Given the description of an element on the screen output the (x, y) to click on. 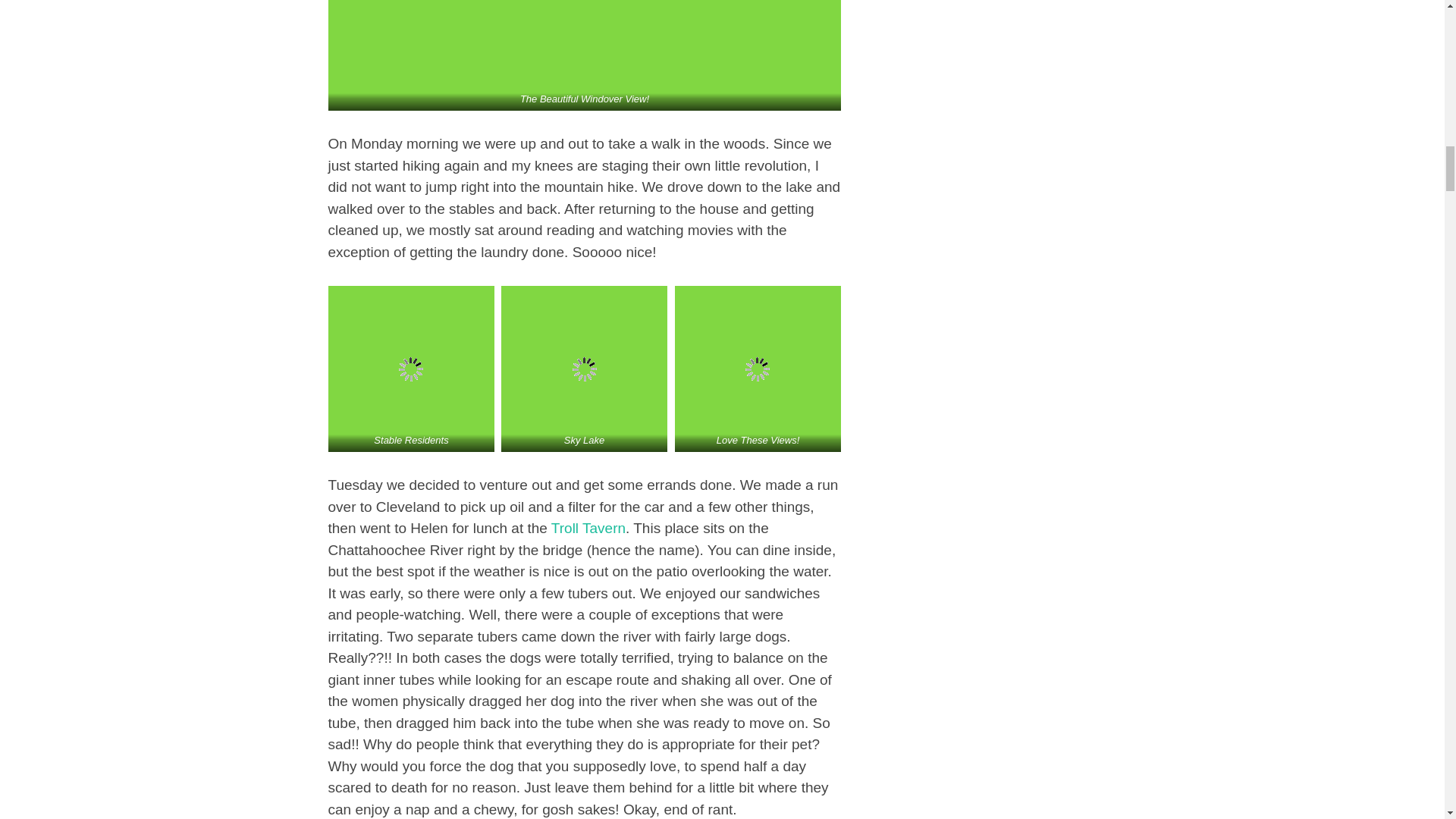
Troll Tavern (588, 528)
